Given the description of an element on the screen output the (x, y) to click on. 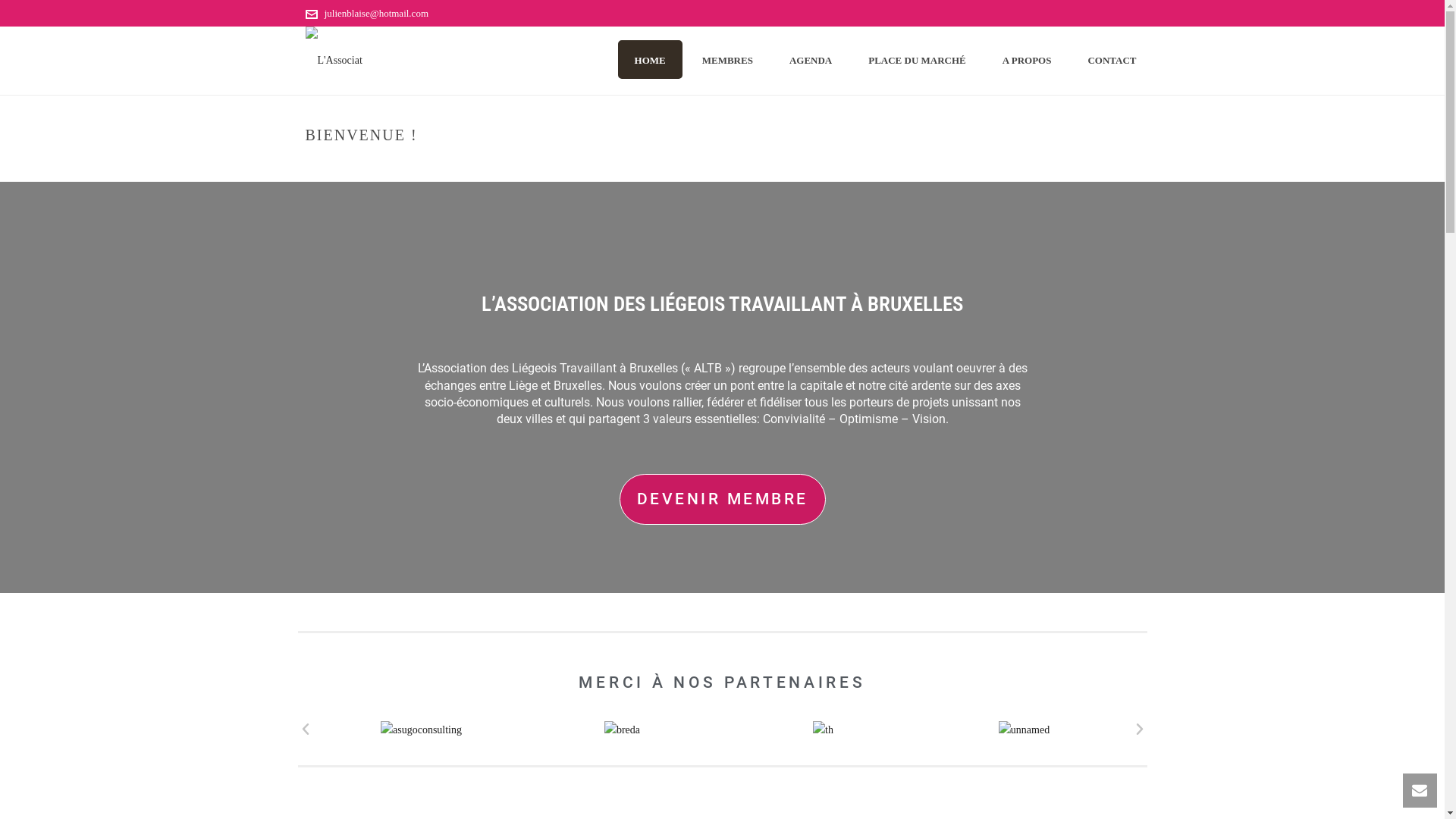
HOME Element type: text (650, 59)
CONTACT Element type: text (1111, 59)
A PROPOS Element type: text (1026, 59)
DEVENIR MEMBRE Element type: text (721, 498)
AGENDA Element type: text (810, 59)
julienblaise@hotmail.com Element type: text (376, 12)
MEMBRES Element type: text (727, 59)
